Given the description of an element on the screen output the (x, y) to click on. 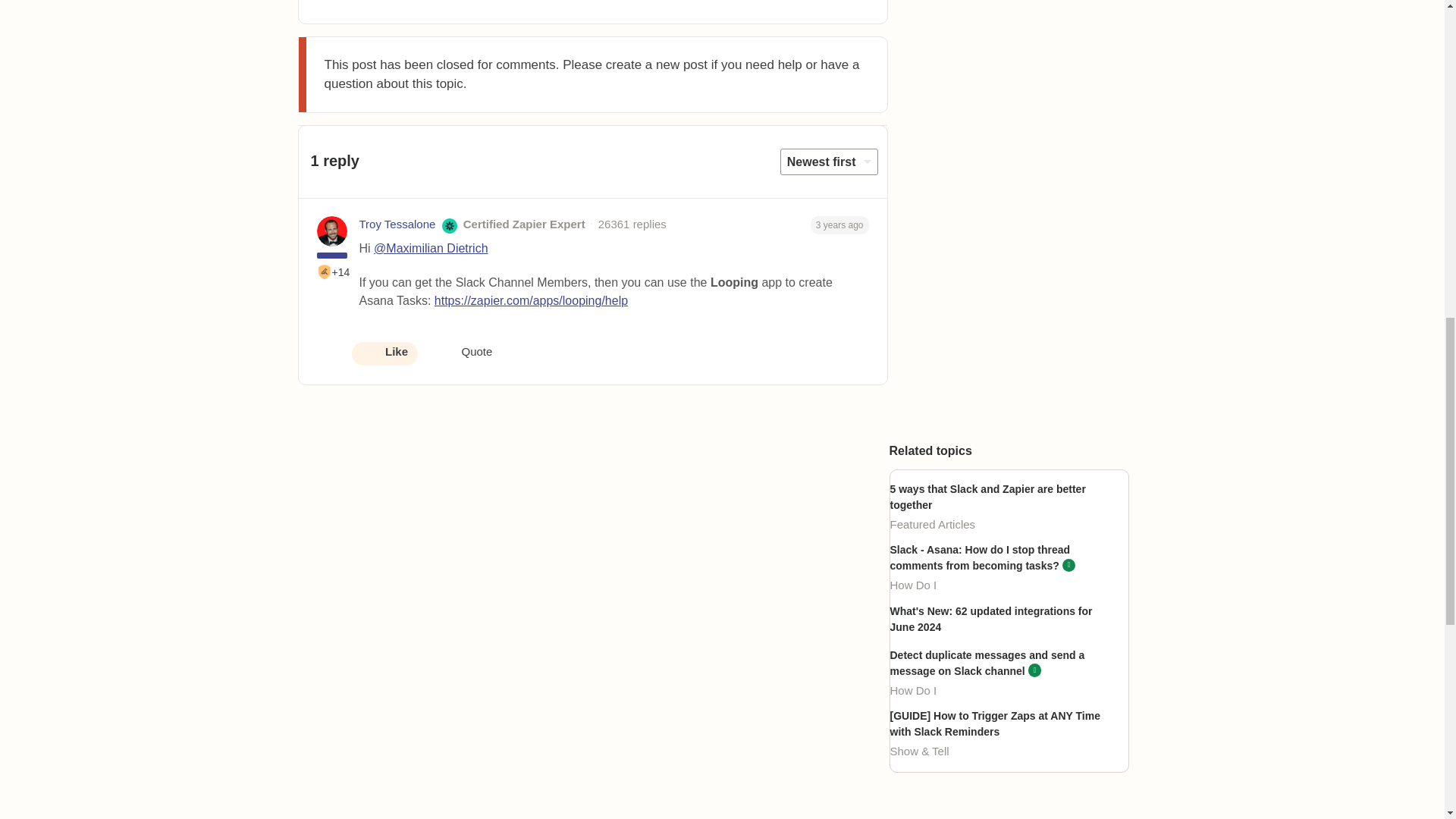
First Best Answer (324, 272)
Troy Tessalone (397, 224)
